Given the description of an element on the screen output the (x, y) to click on. 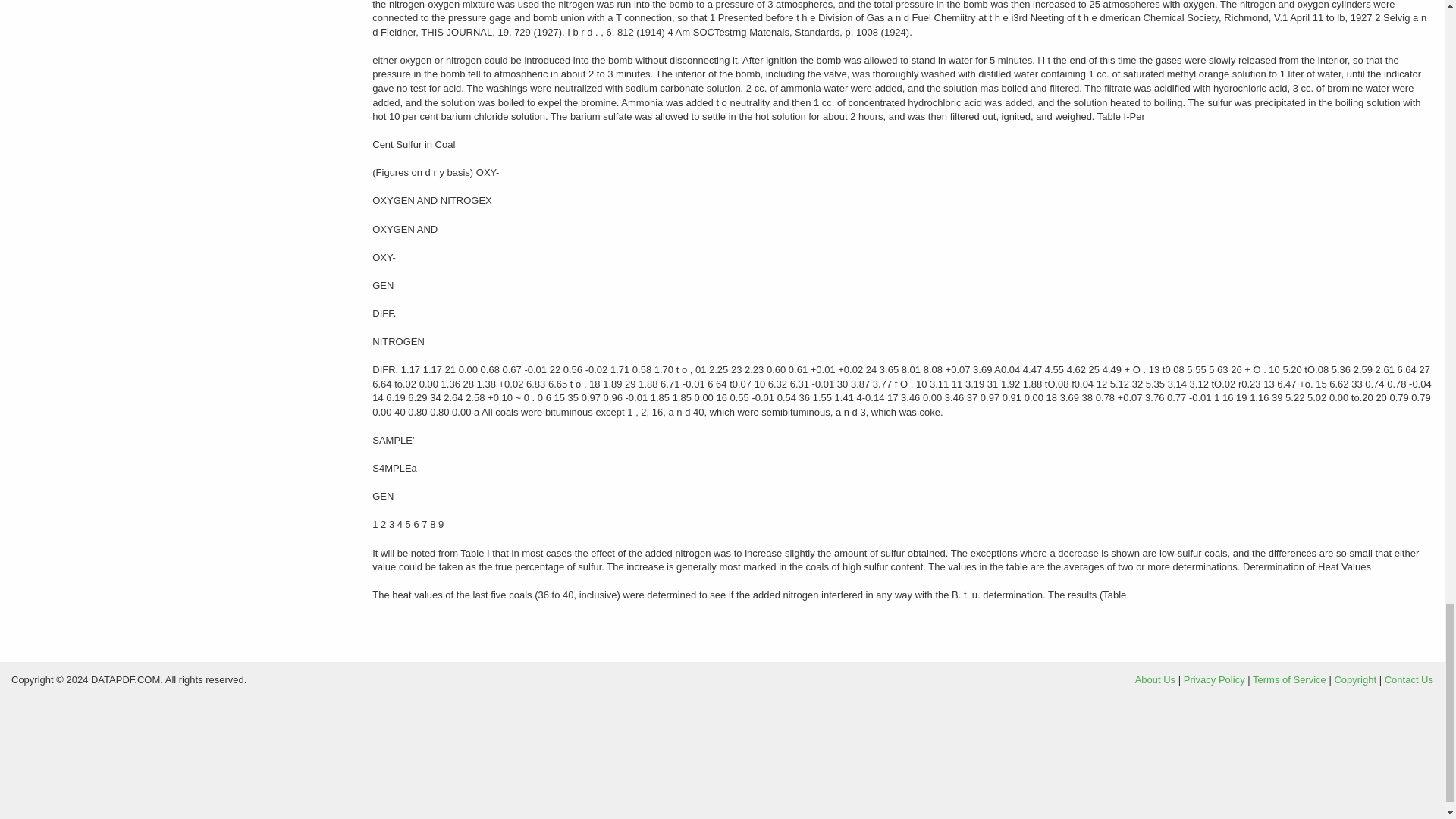
Copyright (1354, 679)
Privacy Policy (1213, 679)
Contact Us (1408, 679)
About Us (1154, 679)
Terms of Service (1289, 679)
